Given the description of an element on the screen output the (x, y) to click on. 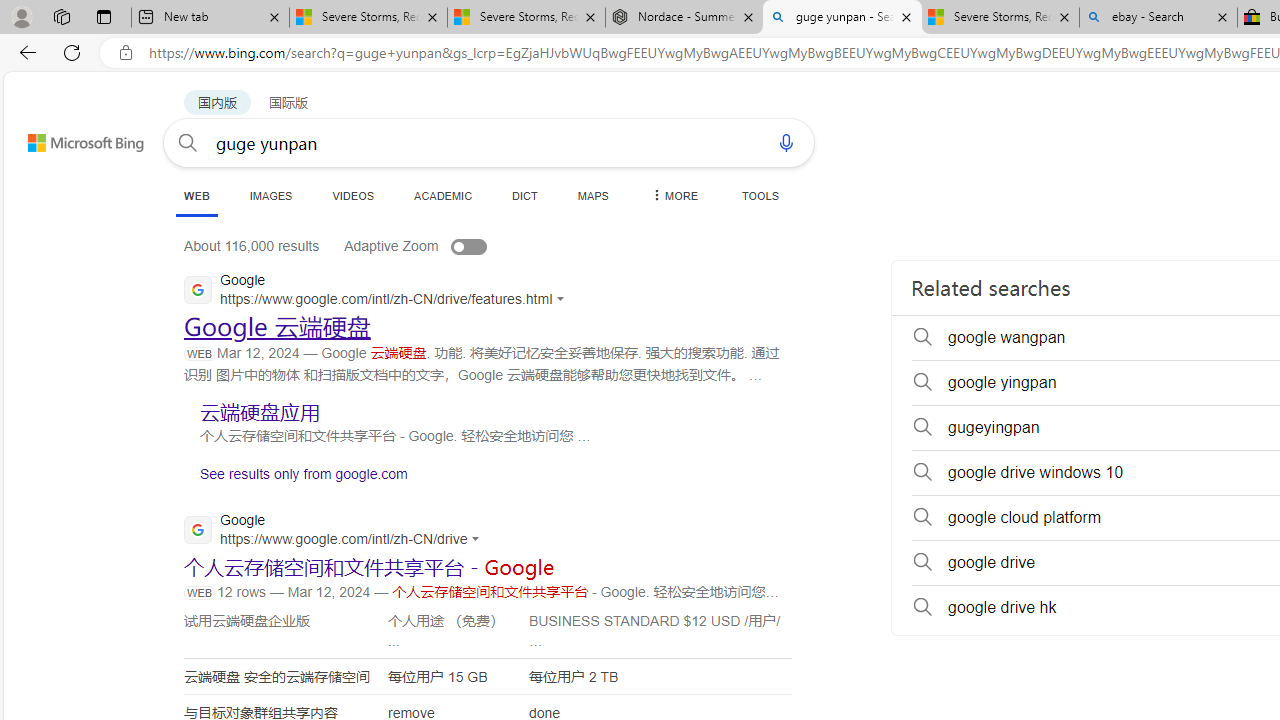
ACADEMIC (443, 195)
WEB (196, 195)
TOOLS (760, 195)
Adaptive Zoom (436, 245)
MORE (673, 195)
Tab actions menu (104, 16)
Back to Bing search (73, 138)
DICT (525, 195)
New tab (210, 17)
Actions for this site (479, 537)
VIDEOS (352, 195)
Search using voice (785, 142)
